Given the description of an element on the screen output the (x, y) to click on. 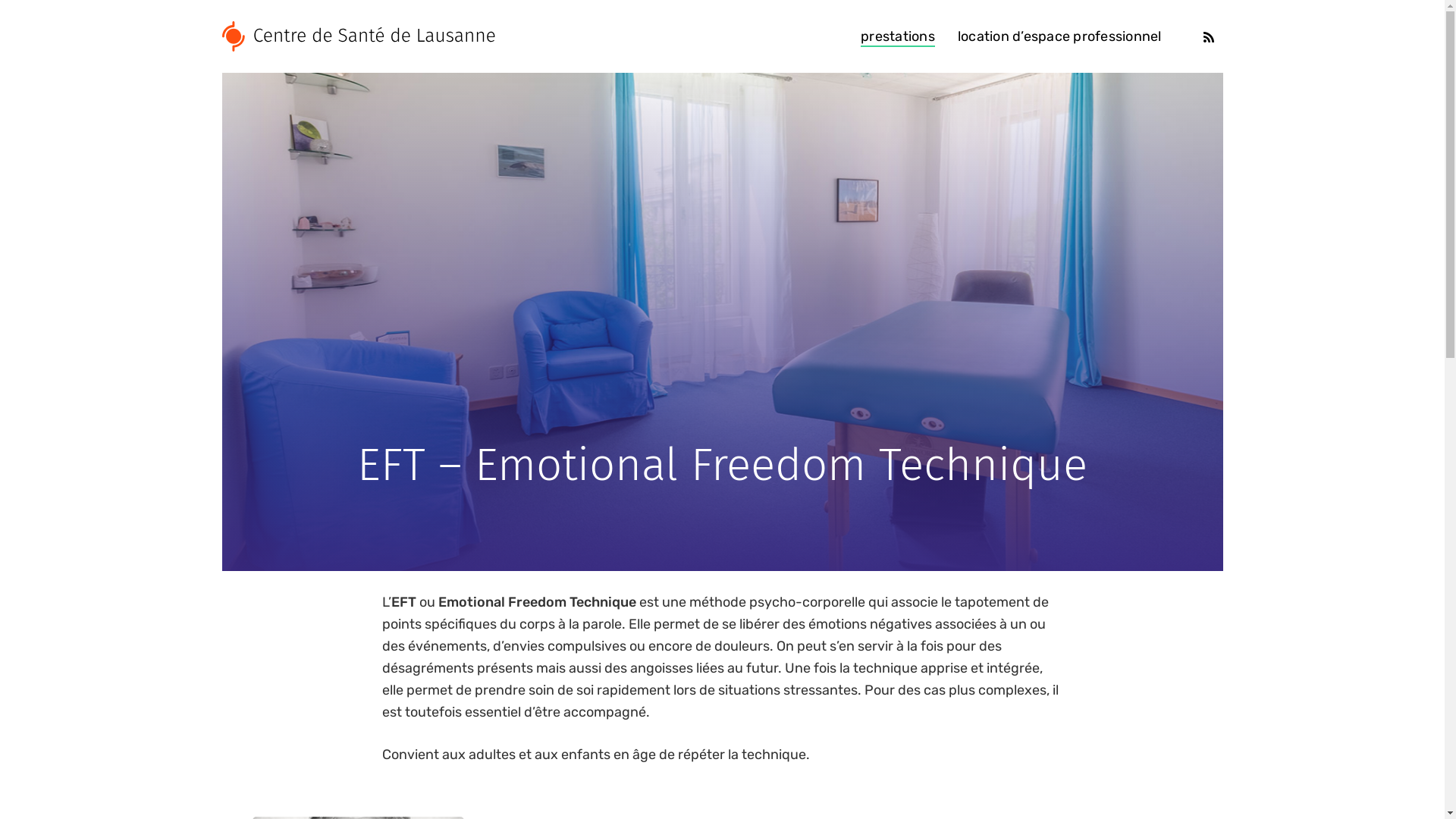
prestations Element type: text (897, 36)
rss Element type: text (1208, 35)
